Given the description of an element on the screen output the (x, y) to click on. 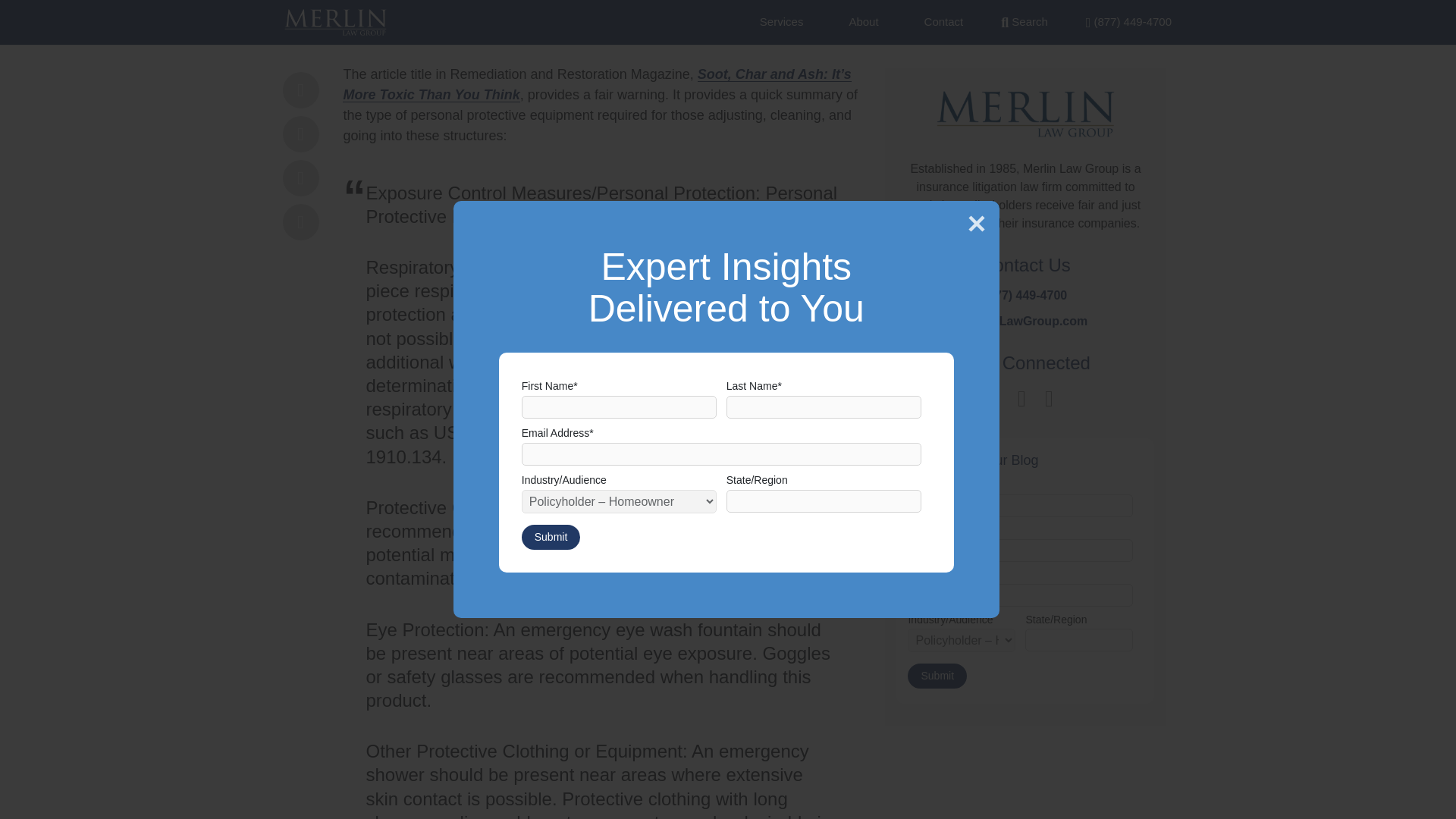
Submit (936, 140)
